Given the description of an element on the screen output the (x, y) to click on. 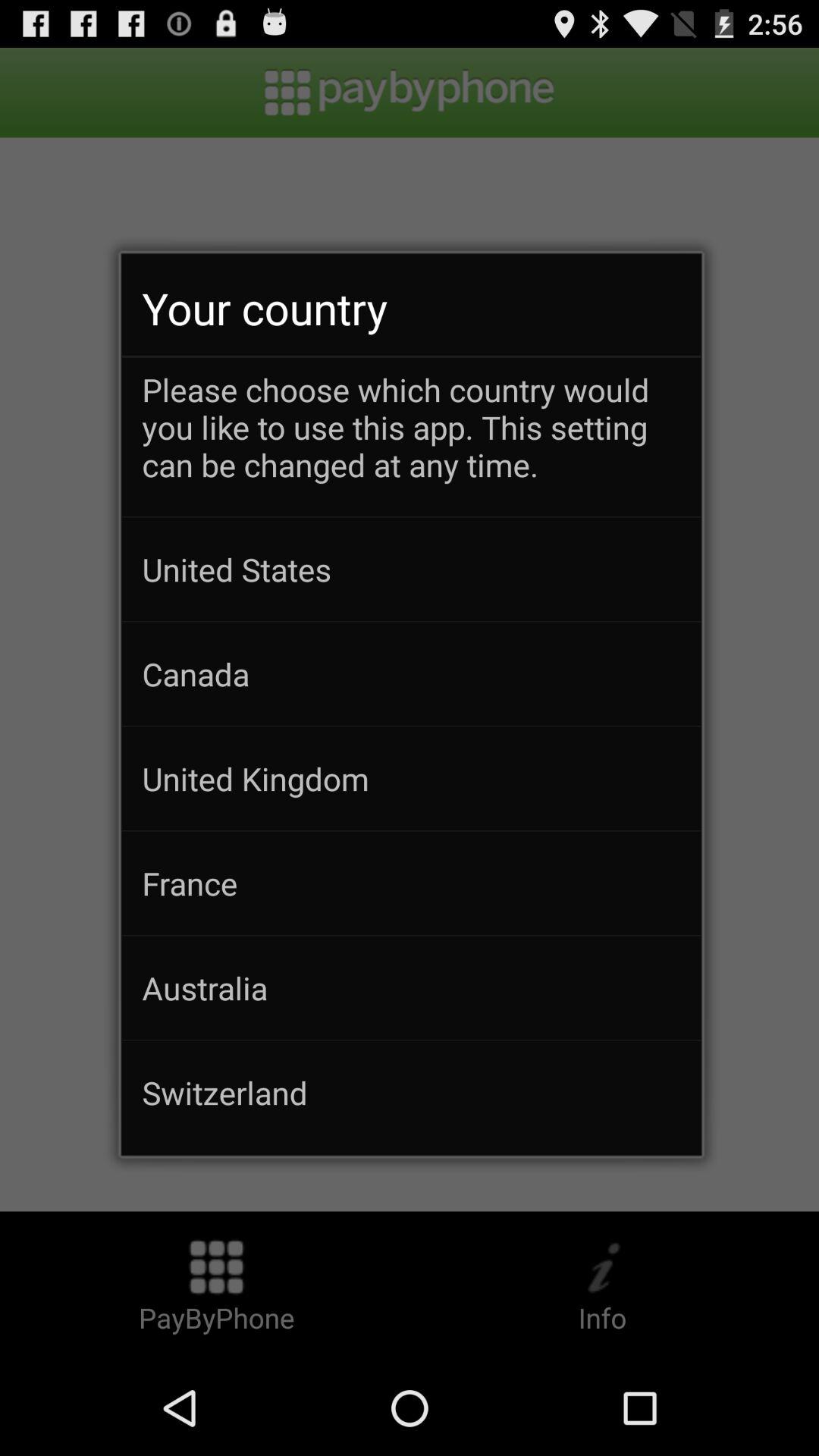
swipe until france (411, 883)
